Given the description of an element on the screen output the (x, y) to click on. 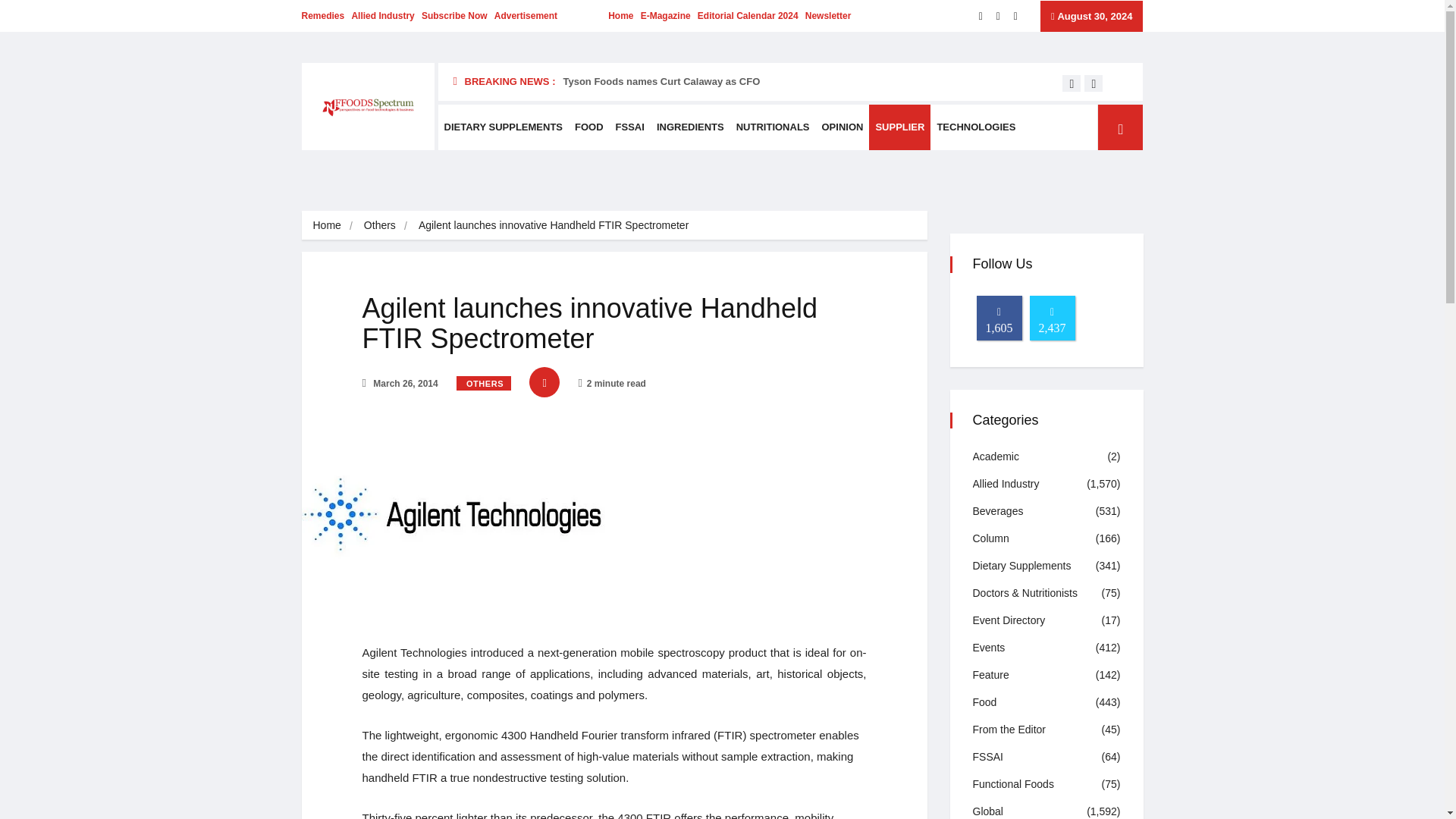
FSSAI (630, 126)
Advertisement (526, 15)
NUTRITIONALS (772, 126)
OPINION (842, 126)
FOOD (589, 126)
Tyson Foods names Curt Calaway as CFO (661, 81)
Others (380, 224)
Home (326, 224)
TECHNOLOGIES (976, 126)
Editorial Calendar 2024 (747, 15)
